Given the description of an element on the screen output the (x, y) to click on. 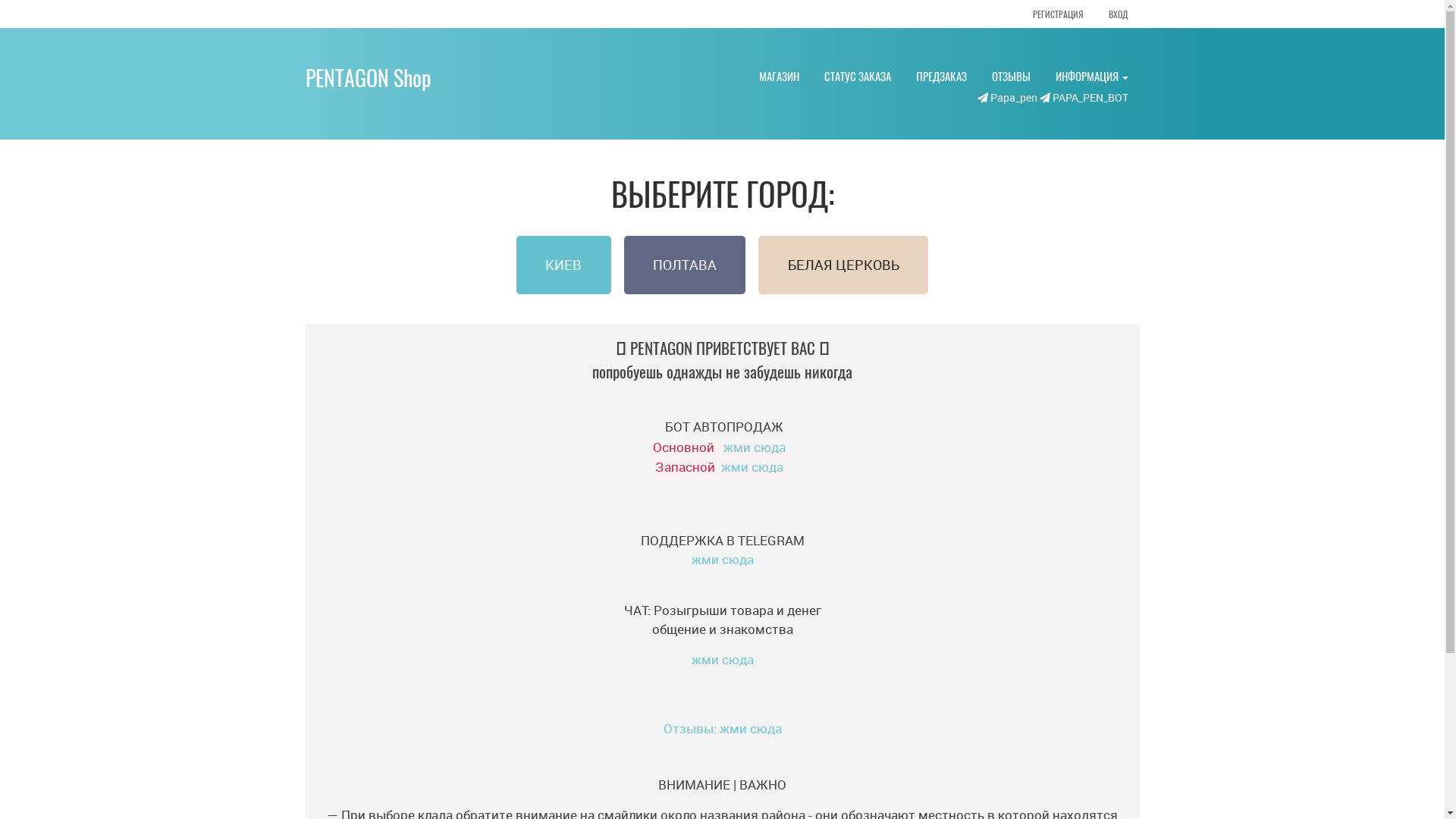
PAPA_PEN_BOT Element type: text (1082, 97)
PENTAGON Shop Element type: text (366, 77)
Papa_pen Element type: text (1006, 97)
